Given the description of an element on the screen output the (x, y) to click on. 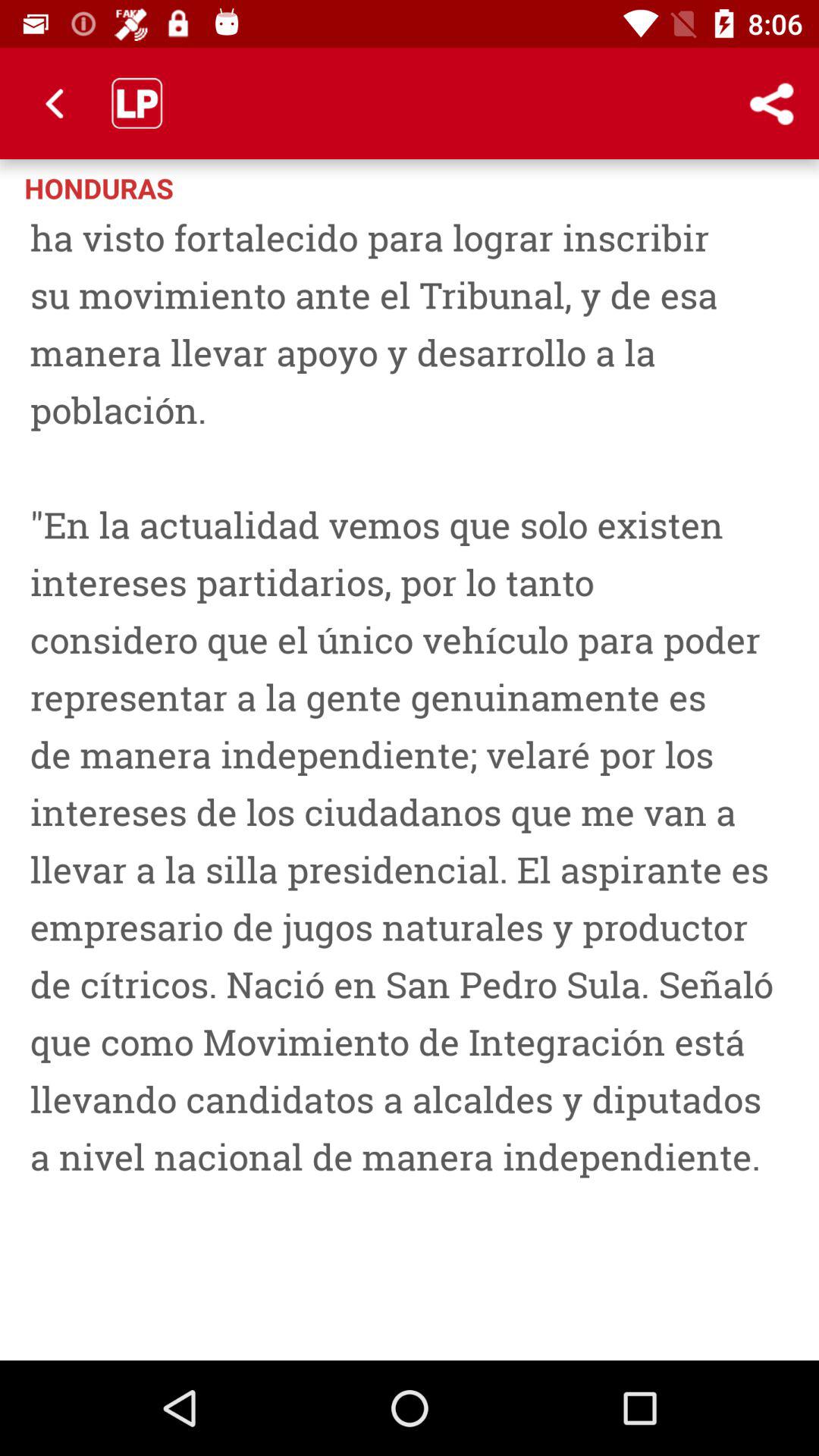
turn on the icon below honduras (409, 778)
